Given the description of an element on the screen output the (x, y) to click on. 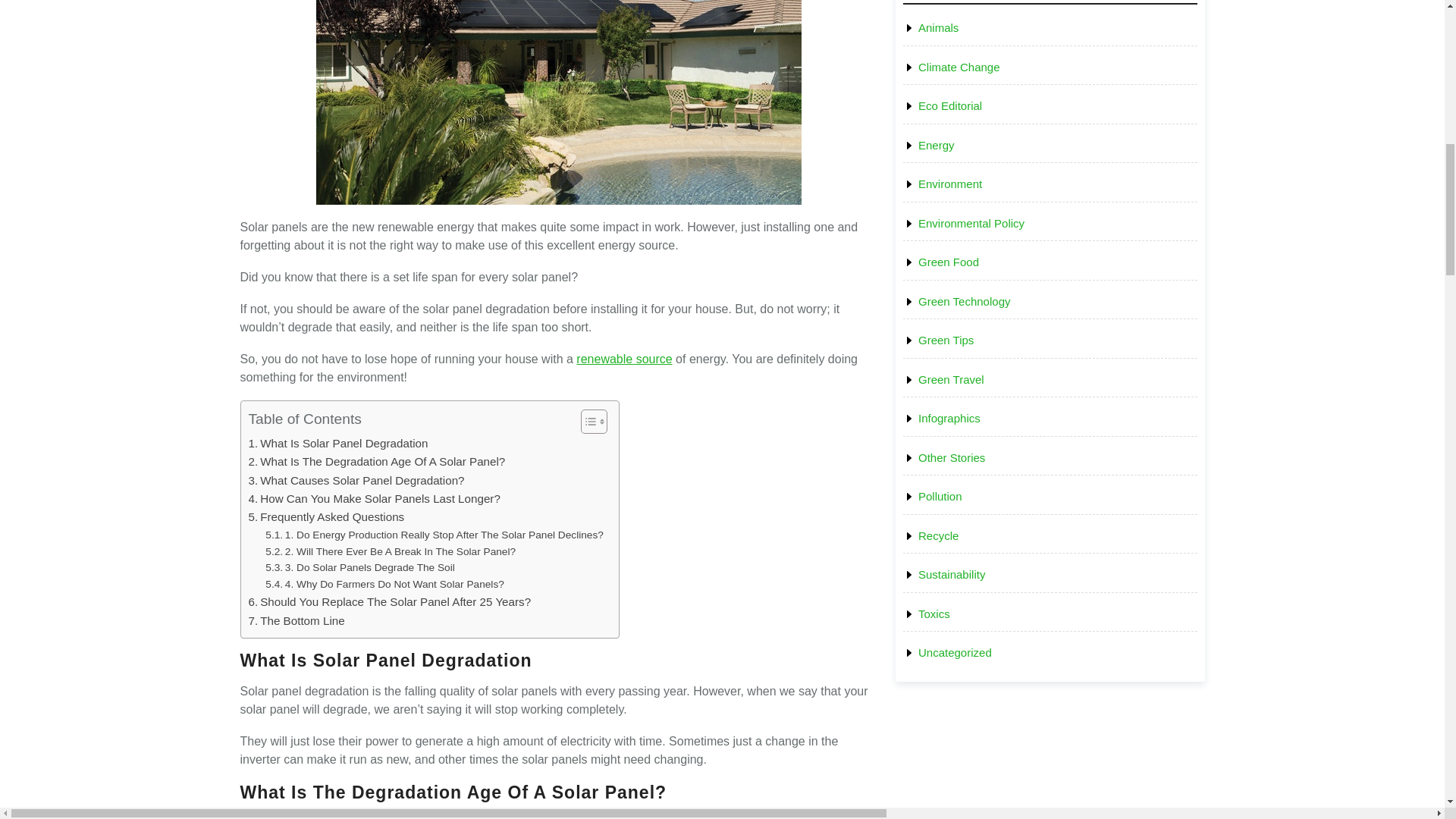
renewable source (623, 358)
How Can You Make Solar Panels Last Longer? (374, 498)
3. Do Solar Panels Degrade The Soil (359, 567)
2. Will There Ever Be A Break In The Solar Panel? (389, 551)
2. Will There Ever Be A Break In The Solar Panel? (389, 551)
Should You Replace The Solar Panel After 25 Years? (389, 601)
4. Why Do Farmers Do Not Want Solar Panels? (383, 584)
4. Why Do Farmers Do Not Want Solar Panels? (383, 584)
Frequently Asked Questions (326, 516)
What Is Solar Panel Degradation (338, 443)
